Given the description of an element on the screen output the (x, y) to click on. 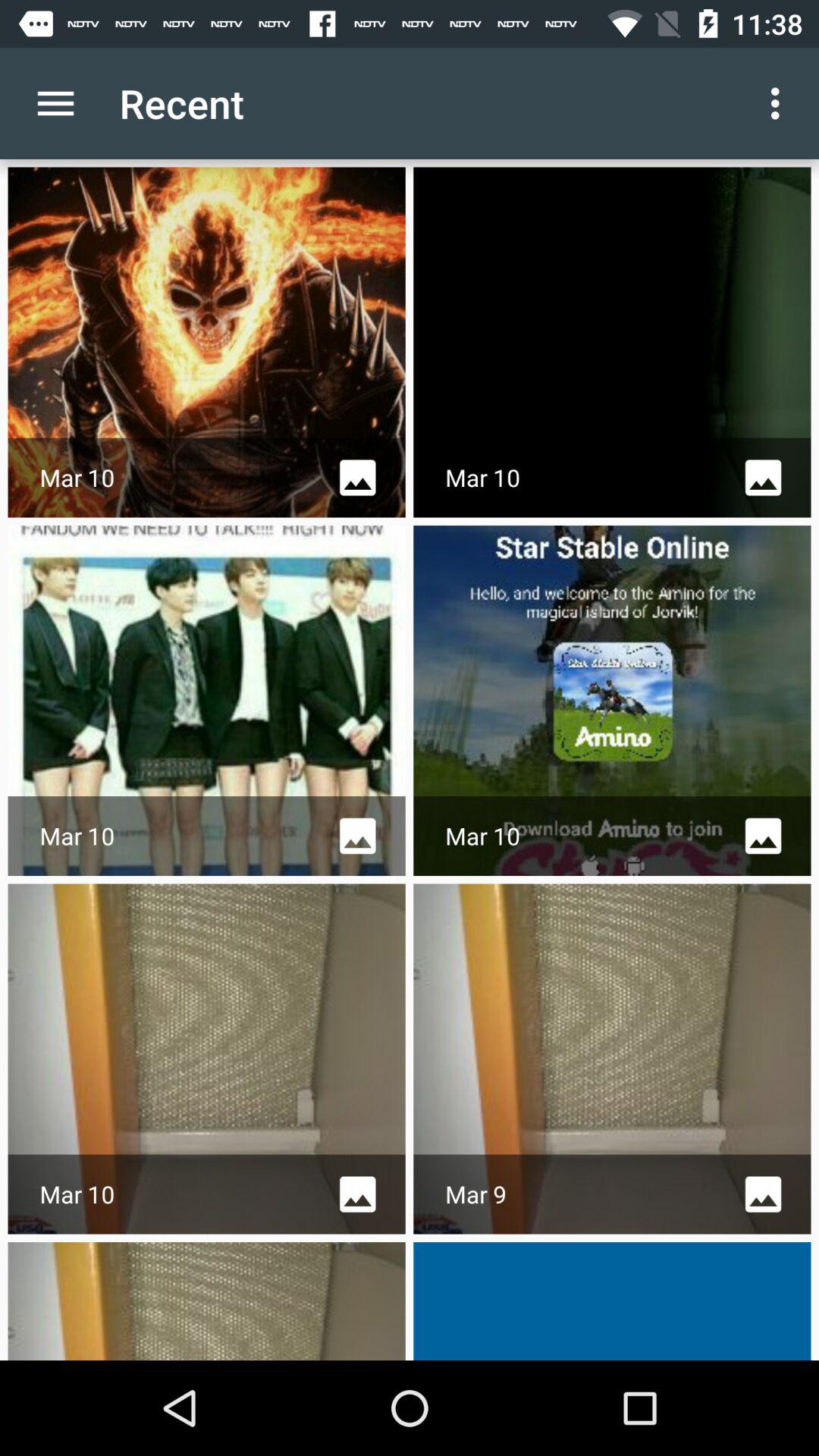
choose the app to the left of recent (55, 103)
